Given the description of an element on the screen output the (x, y) to click on. 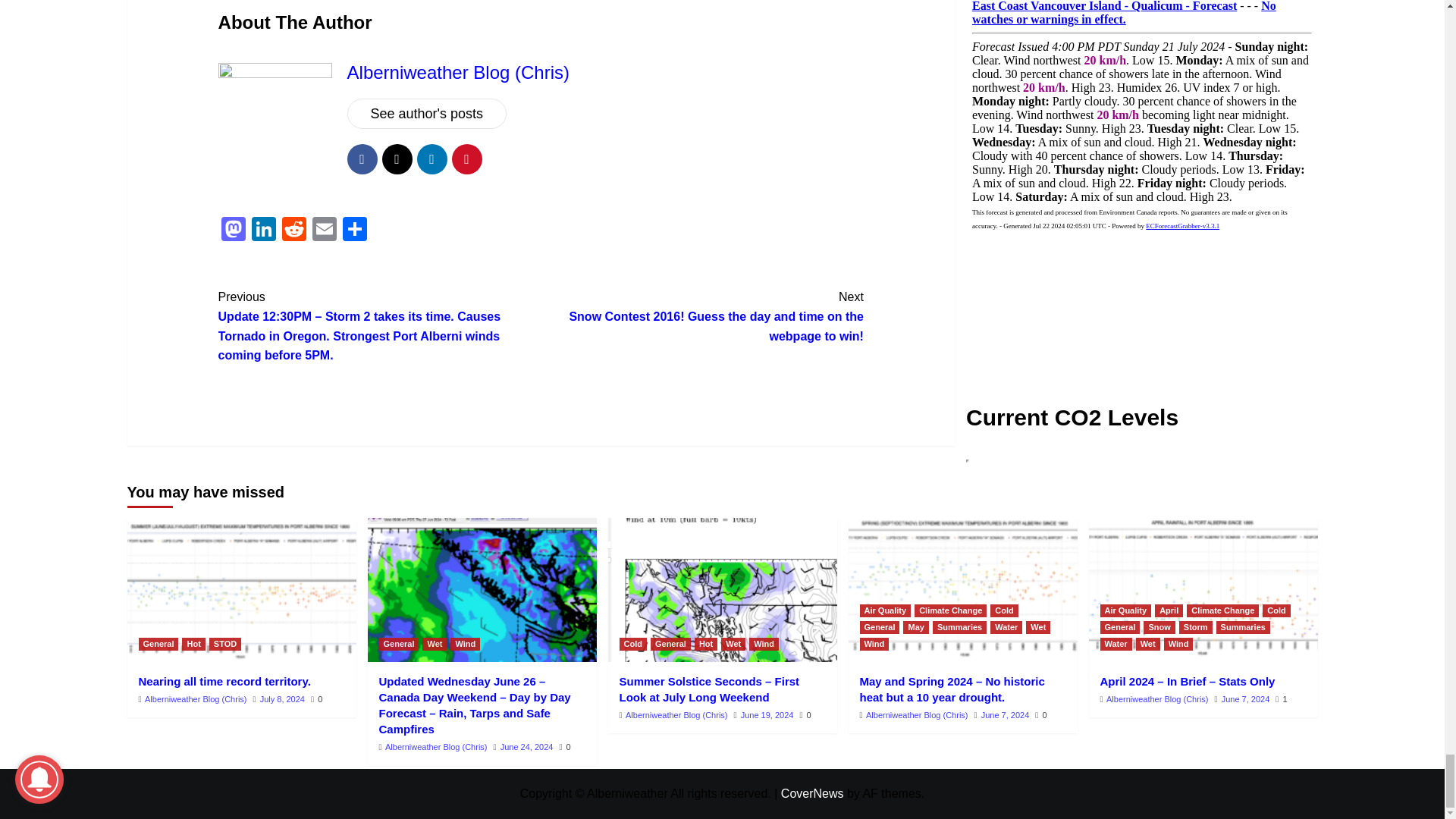
Mastodon (233, 230)
Email (323, 230)
LinkedIn (263, 230)
Reddit (293, 230)
